Given the description of an element on the screen output the (x, y) to click on. 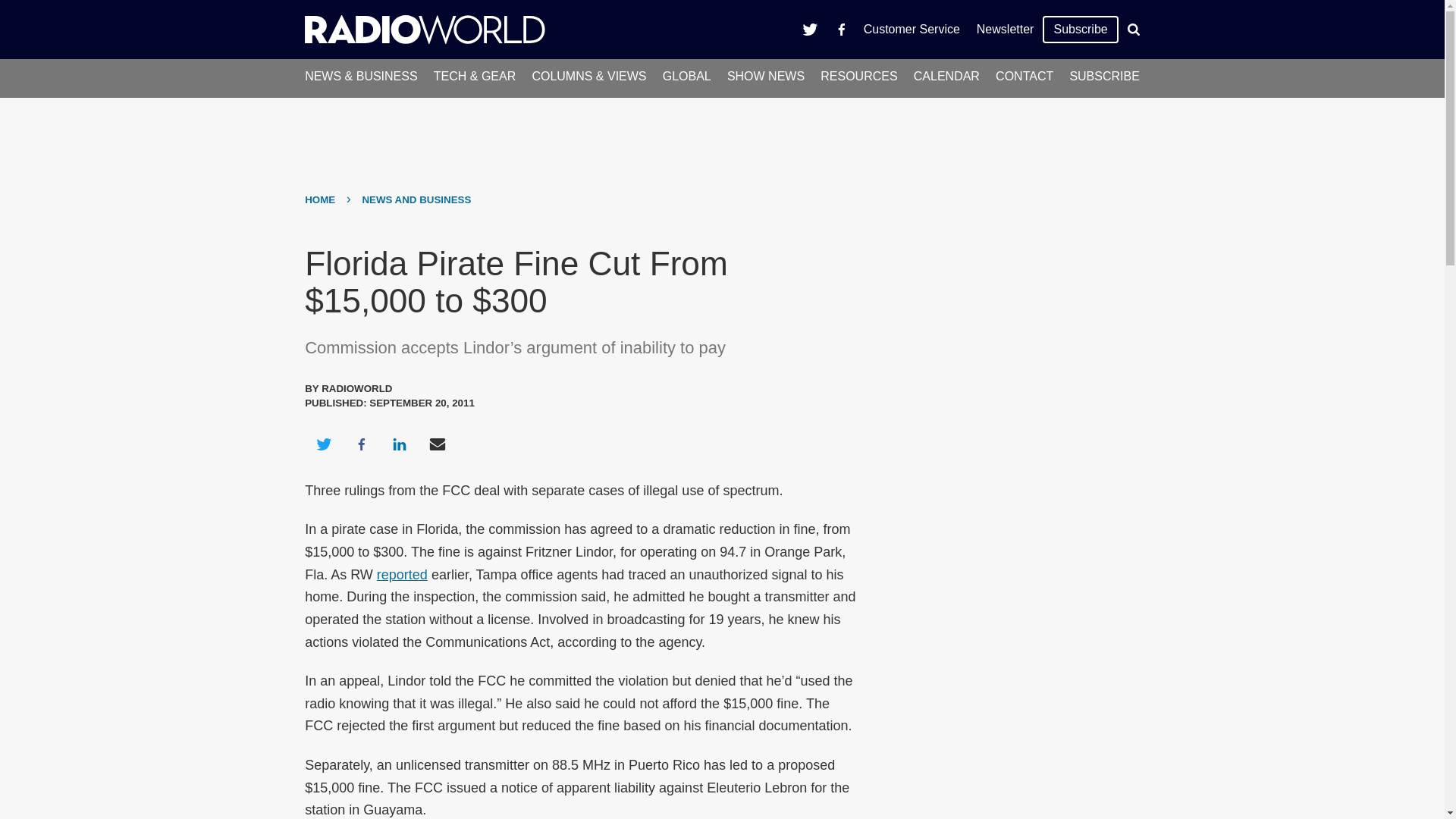
Customer Service (912, 29)
Share on LinkedIn (399, 444)
Share on Twitter (323, 444)
Share via Email (438, 444)
Share on Facebook (361, 444)
